Given the description of an element on the screen output the (x, y) to click on. 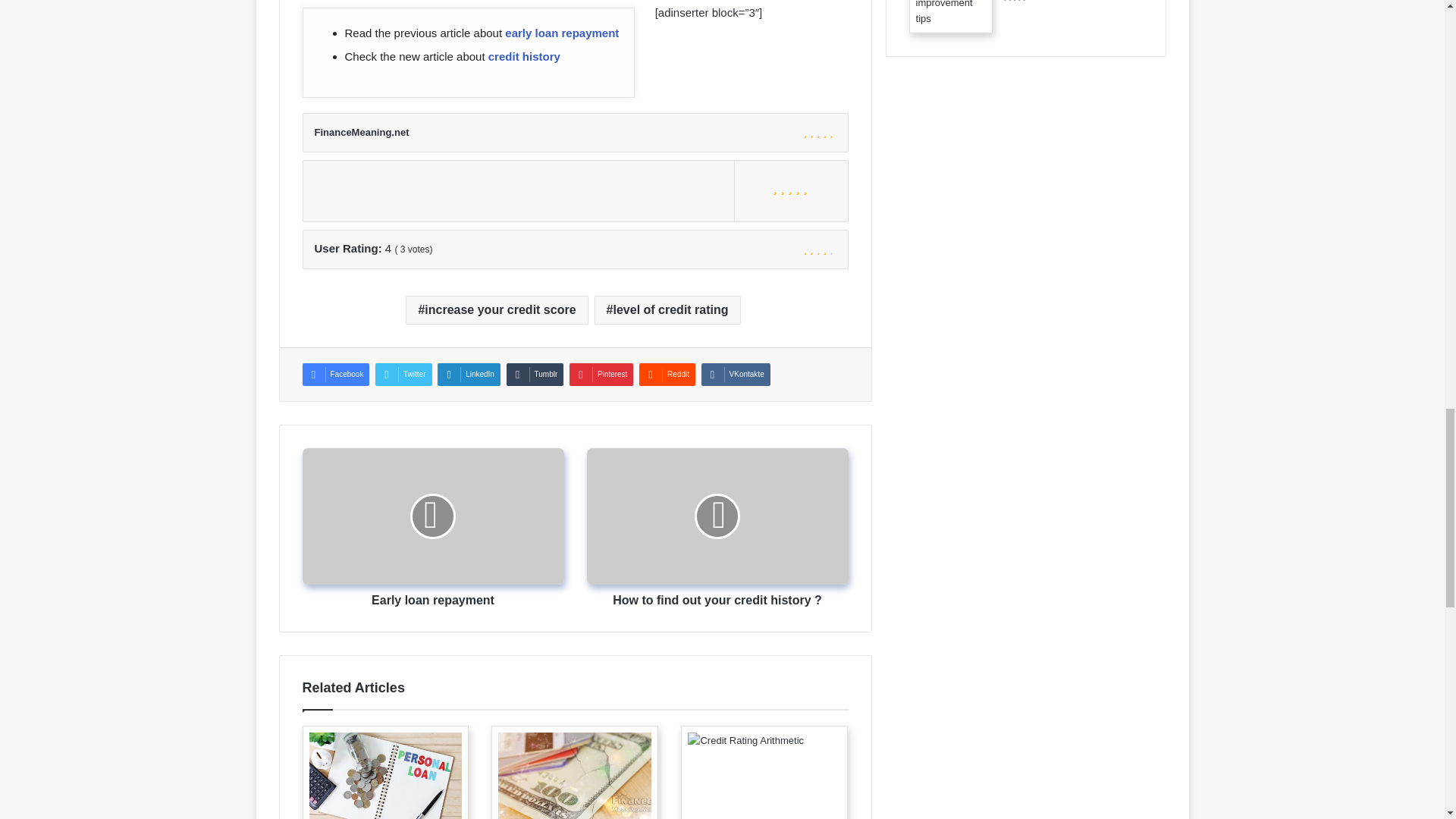
credit history (523, 56)
Pinterest (601, 374)
Facebook (335, 374)
level of credit rating (667, 309)
VKontakte (735, 374)
Tumblr (535, 374)
Pinterest (601, 374)
increase your credit score (497, 309)
Tumblr (535, 374)
LinkedIn (469, 374)
